Given the description of an element on the screen output the (x, y) to click on. 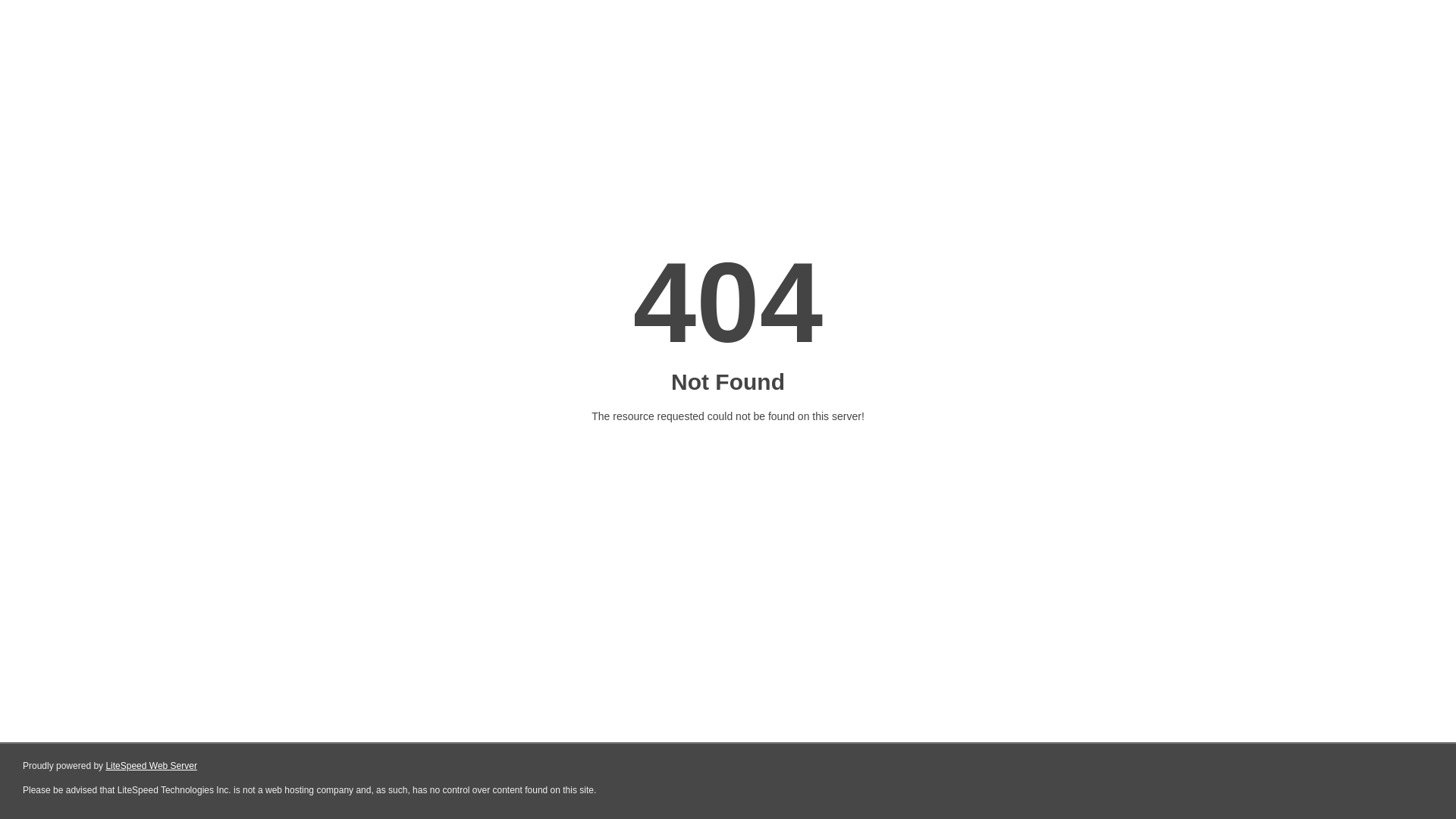
LiteSpeed Web Server Element type: text (151, 765)
